Given the description of an element on the screen output the (x, y) to click on. 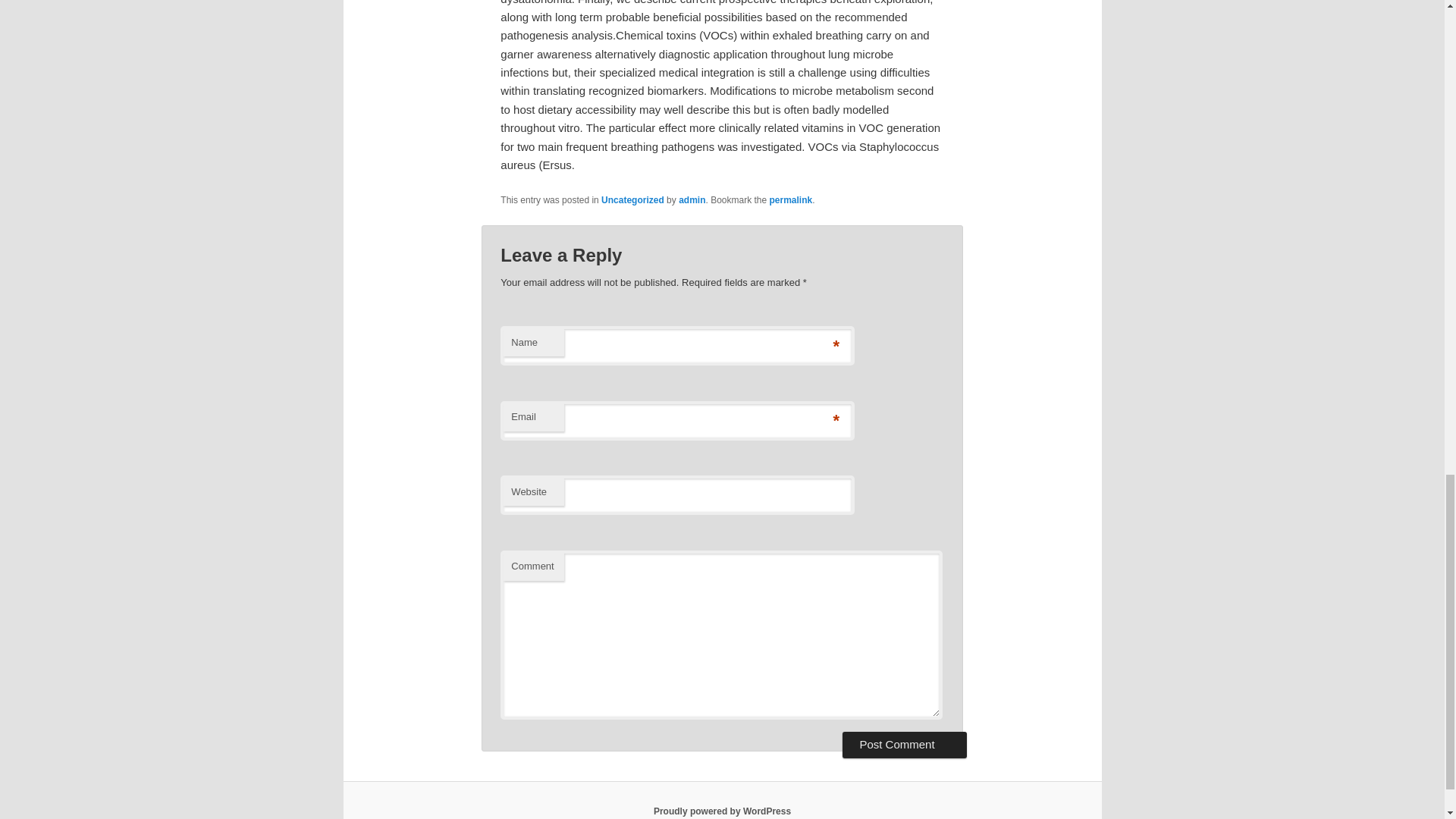
Uncategorized (632, 199)
Proudly powered by WordPress (721, 810)
admin (691, 199)
permalink (791, 199)
Post Comment (904, 744)
View all posts in Uncategorized (632, 199)
Semantic Personal Publishing Platform (721, 810)
Post Comment (904, 744)
